Given the description of an element on the screen output the (x, y) to click on. 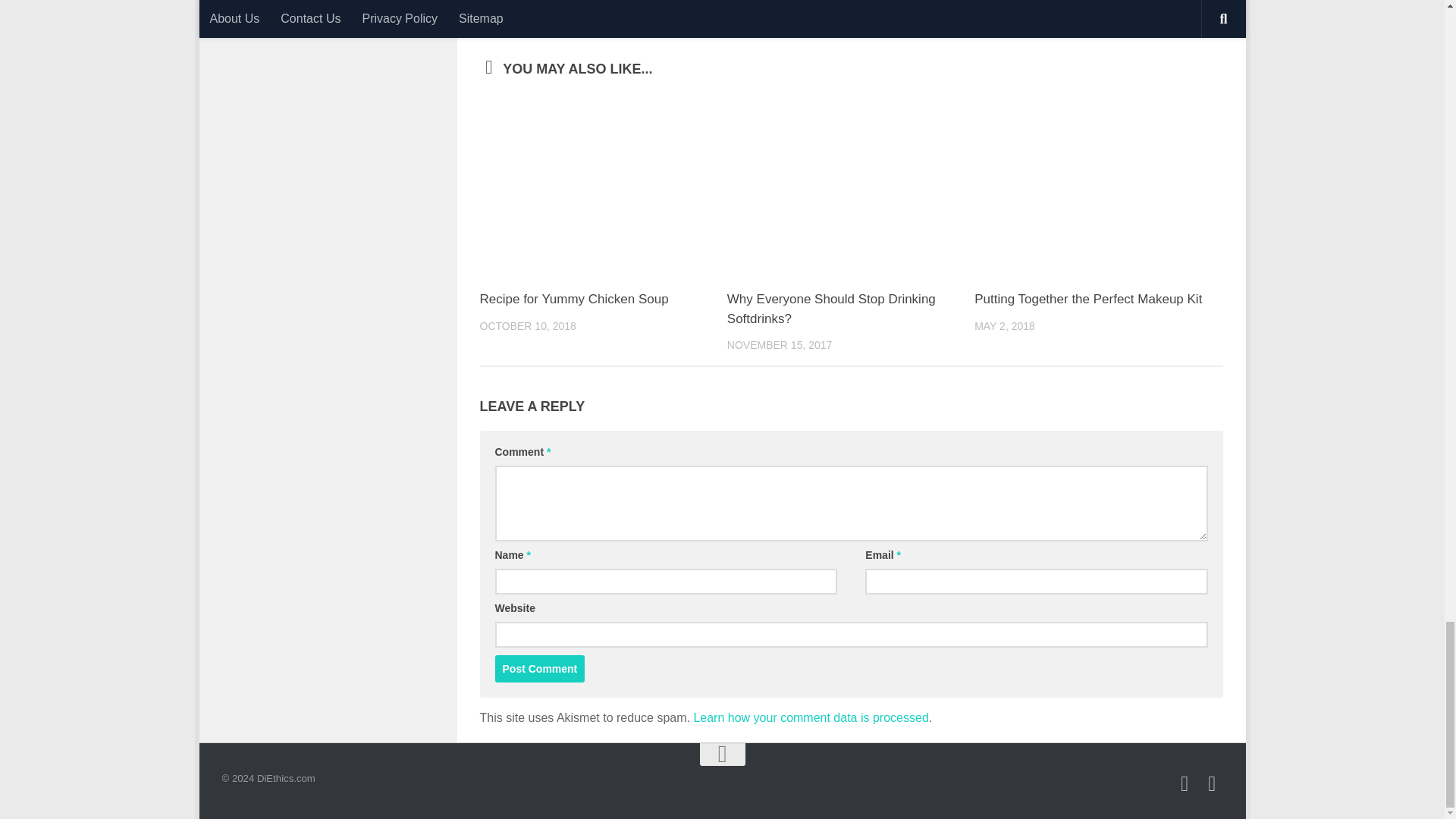
Post Comment (540, 668)
